Given the description of an element on the screen output the (x, y) to click on. 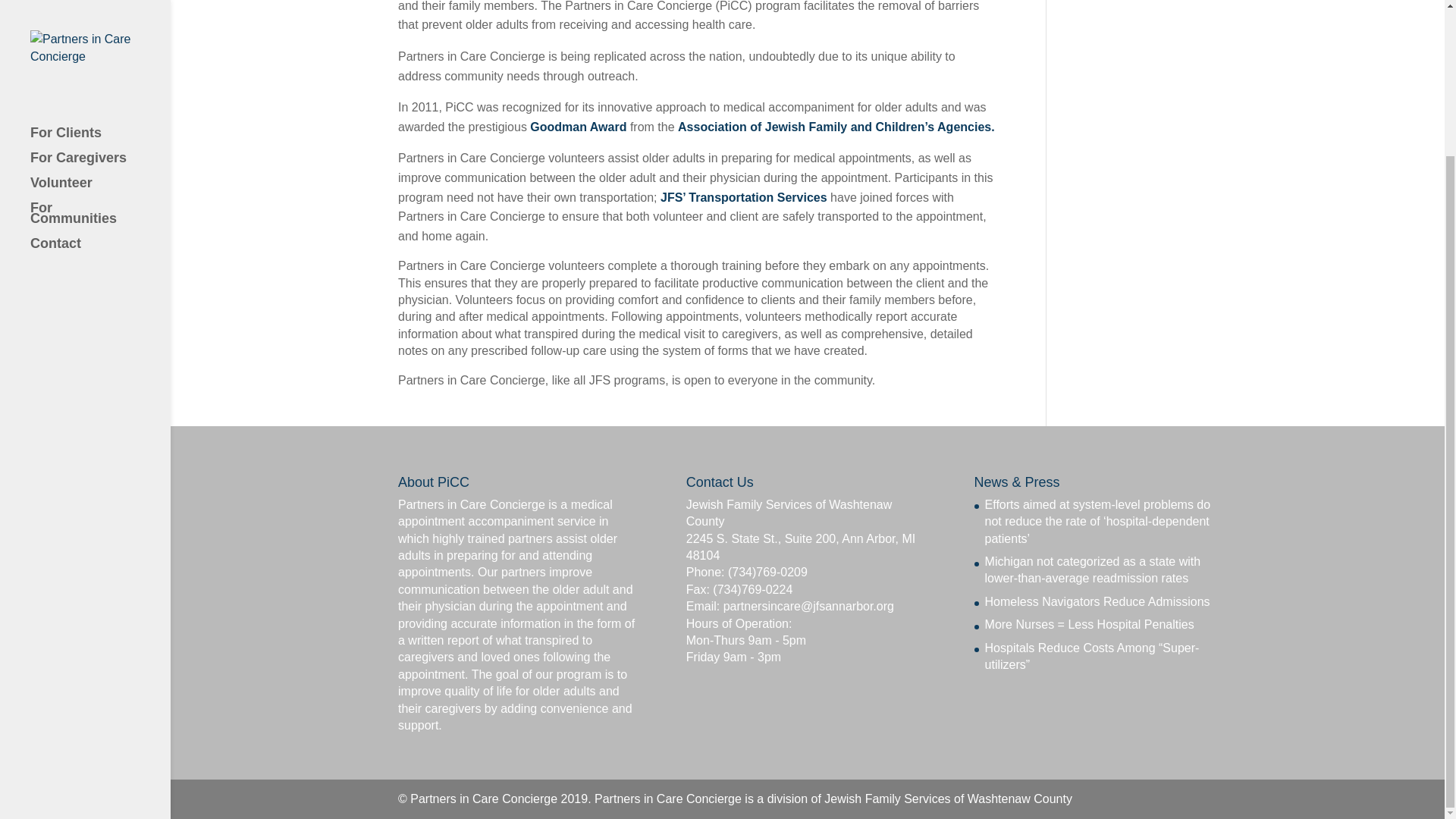
Transportation Services  (745, 196)
Volunteer (100, 10)
Goodman Award (577, 126)
For Communities (100, 38)
Contact (100, 68)
Homeless Navigators Reduce Admissions (1097, 601)
